Given the description of an element on the screen output the (x, y) to click on. 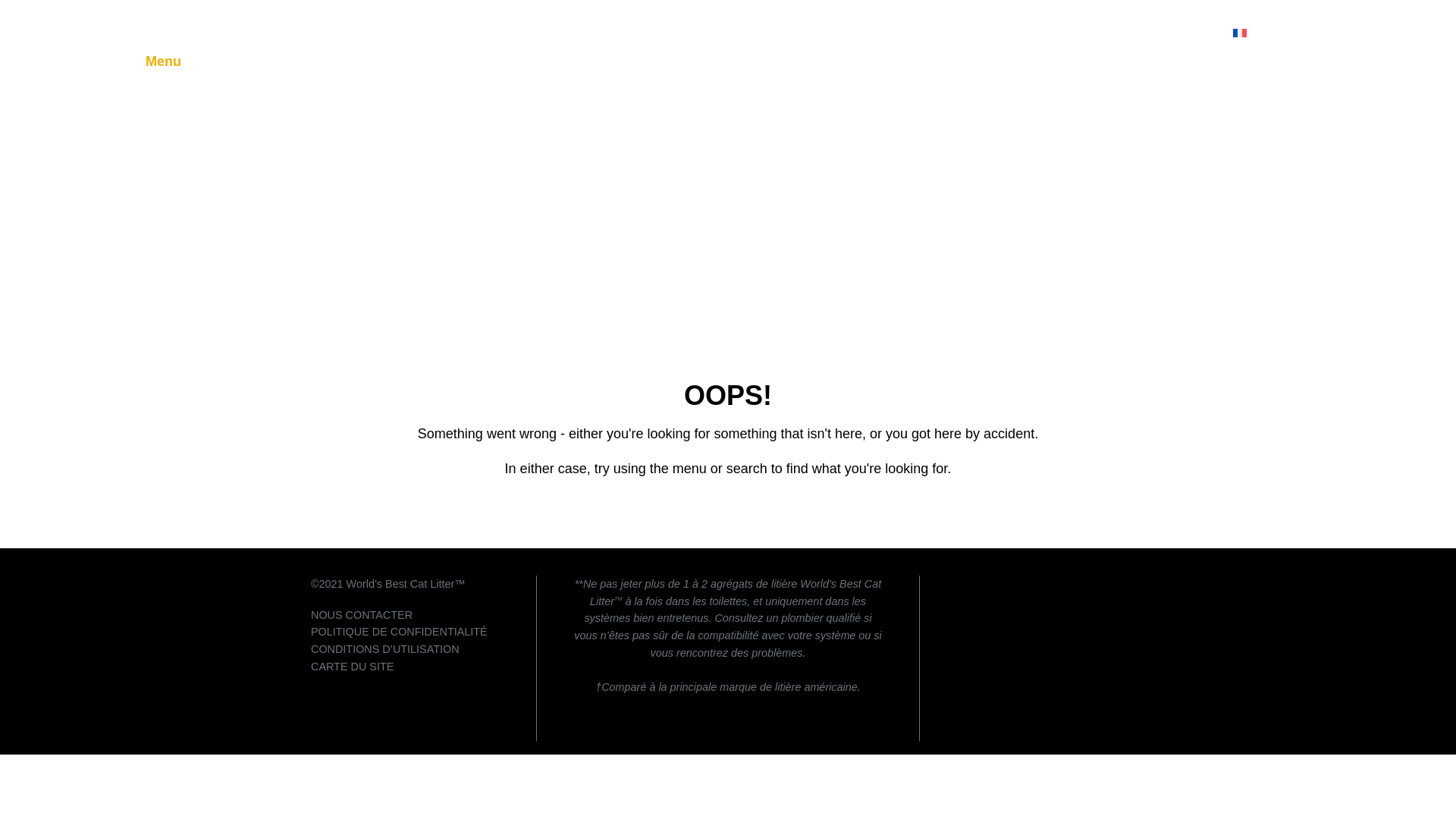
Menu (162, 61)
RECHERCHER (1165, 33)
pinterest (1055, 585)
Logo (190, 29)
instagram (1024, 585)
CARTE DU SITE (352, 666)
France (1265, 31)
twitter (1085, 585)
RESTONS EN CONTACT (1028, 33)
CE QUI NOUS DISTINGUE (860, 33)
youtube (1115, 585)
FRANCE (1265, 31)
facebook (994, 585)
NOUS CONTACTER (361, 614)
